Given the description of an element on the screen output the (x, y) to click on. 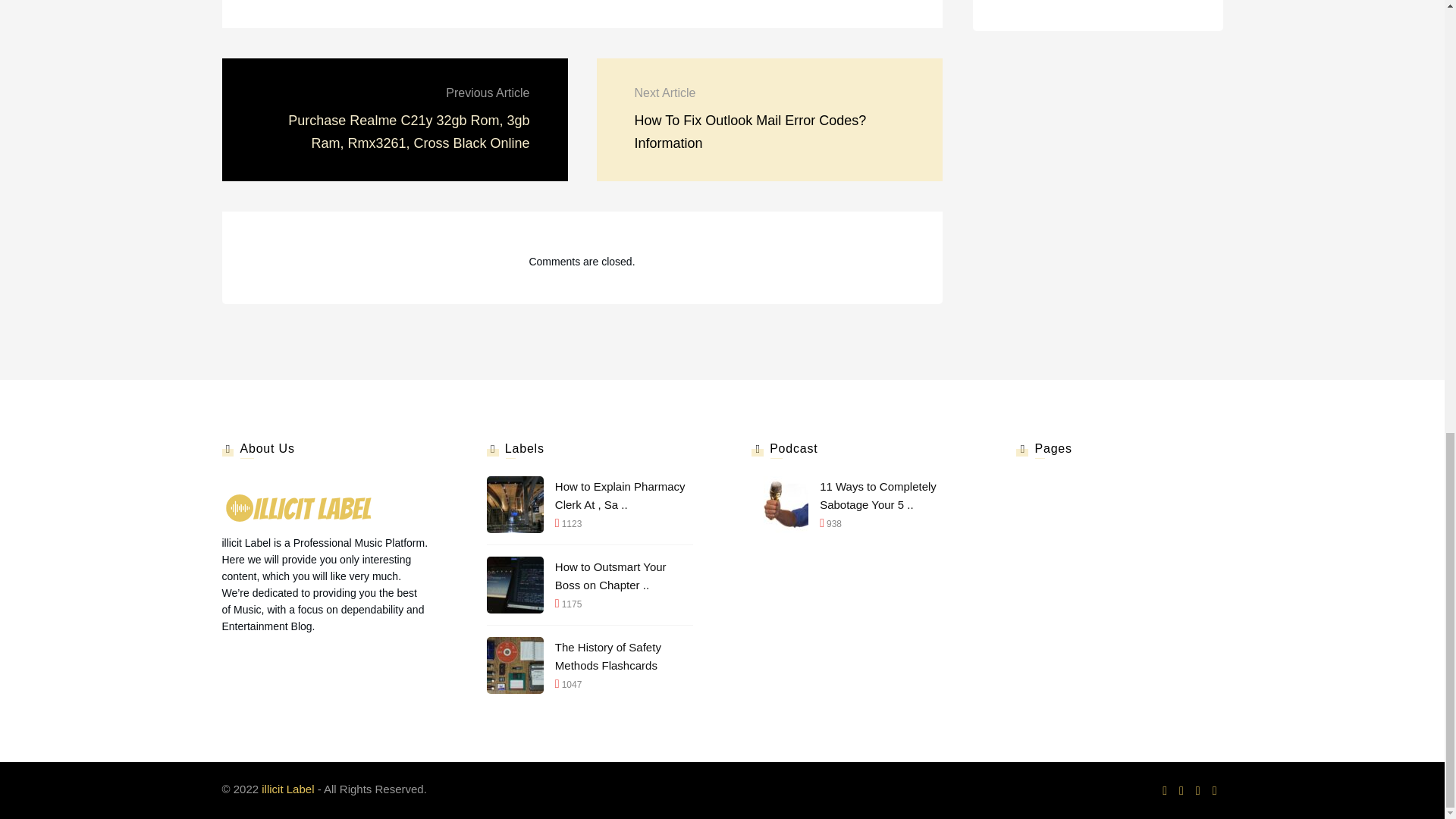
How To Fix Outlook Mail Error Codes? Information (749, 131)
